Given the description of an element on the screen output the (x, y) to click on. 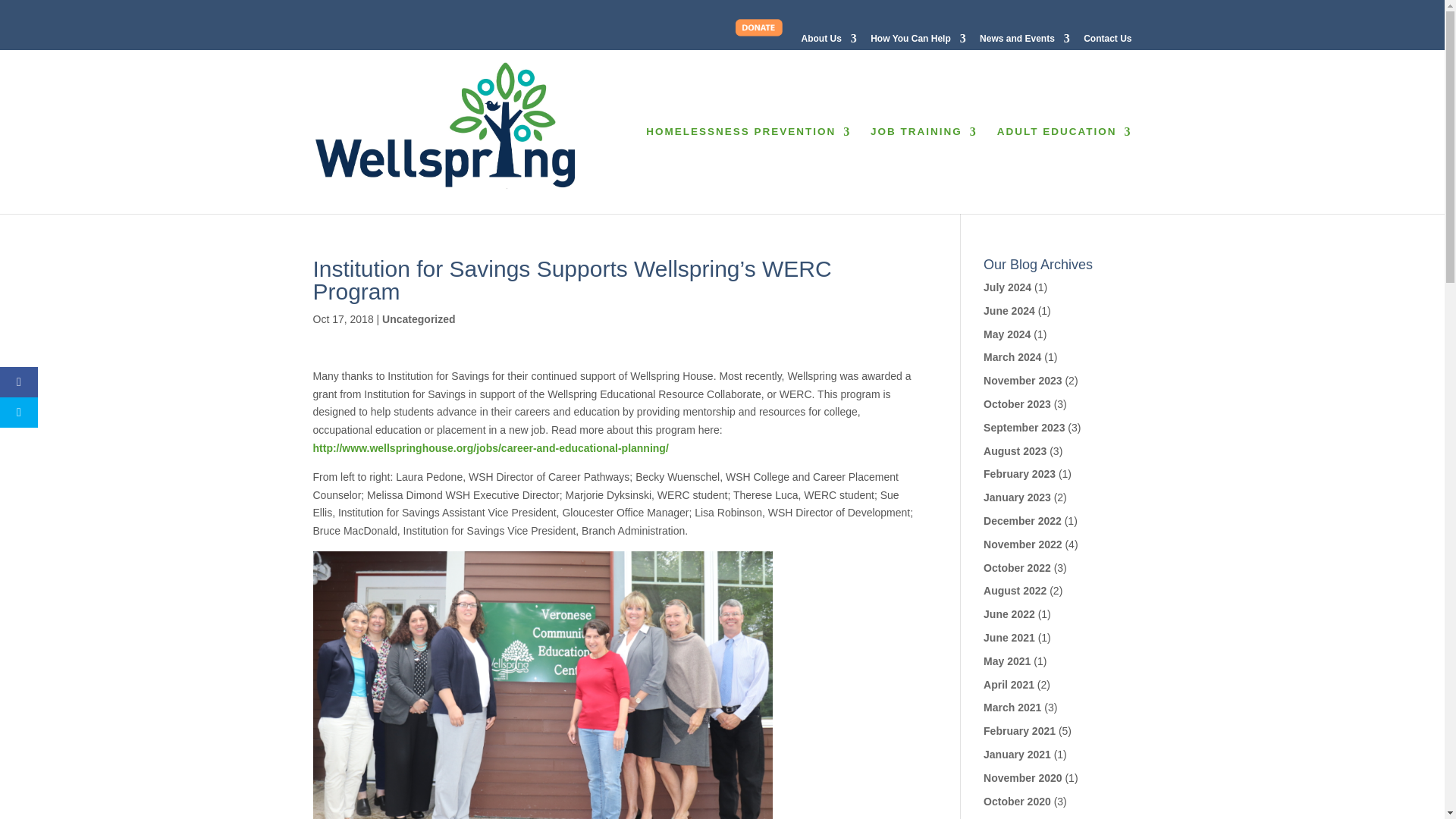
About Us (829, 41)
